Given the description of an element on the screen output the (x, y) to click on. 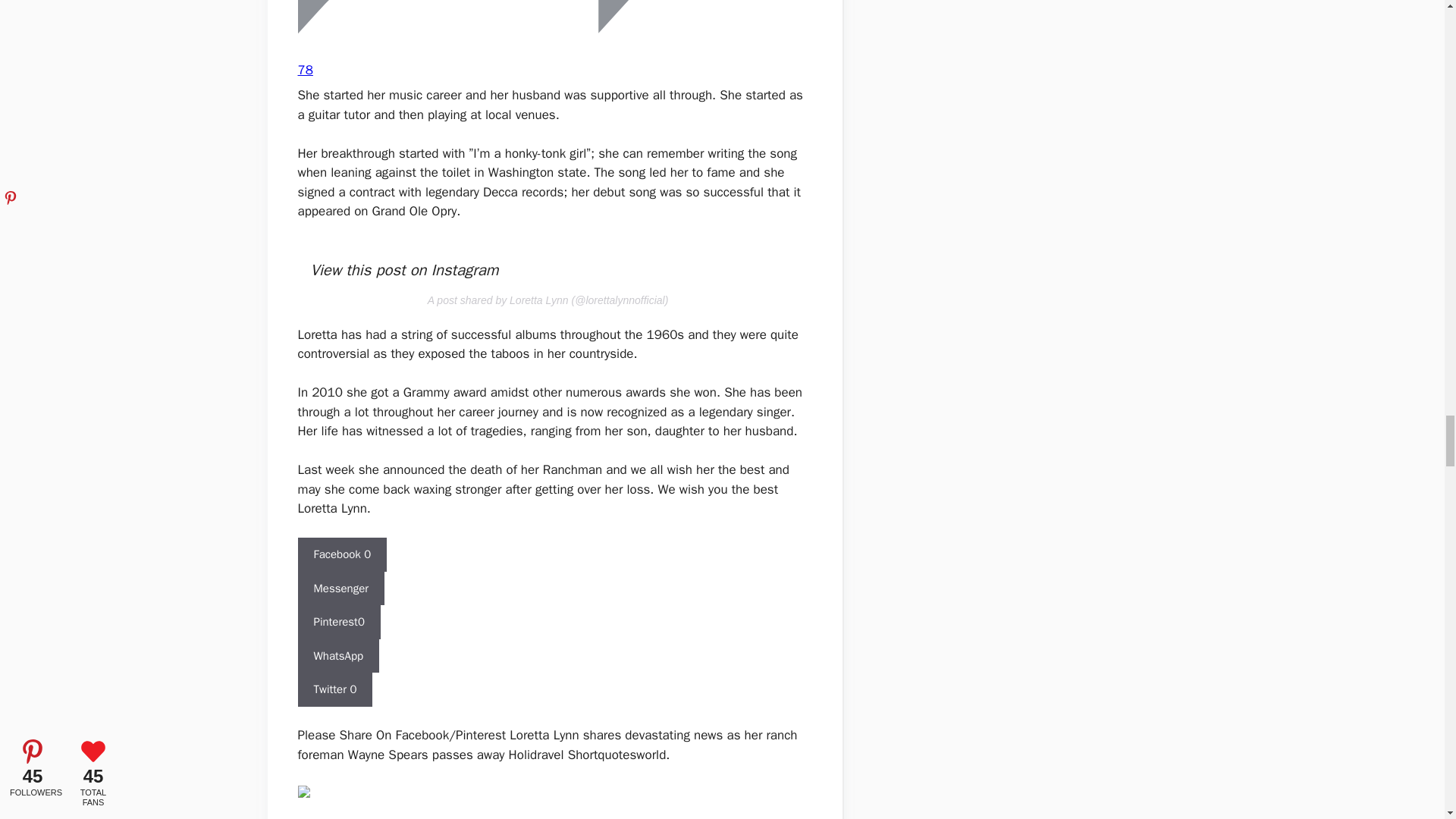
Messenger (340, 588)
Pinterest0 (338, 622)
Facebook 0 (342, 554)
WhatsApp (337, 656)
Twitter 0 (334, 689)
